Given the description of an element on the screen output the (x, y) to click on. 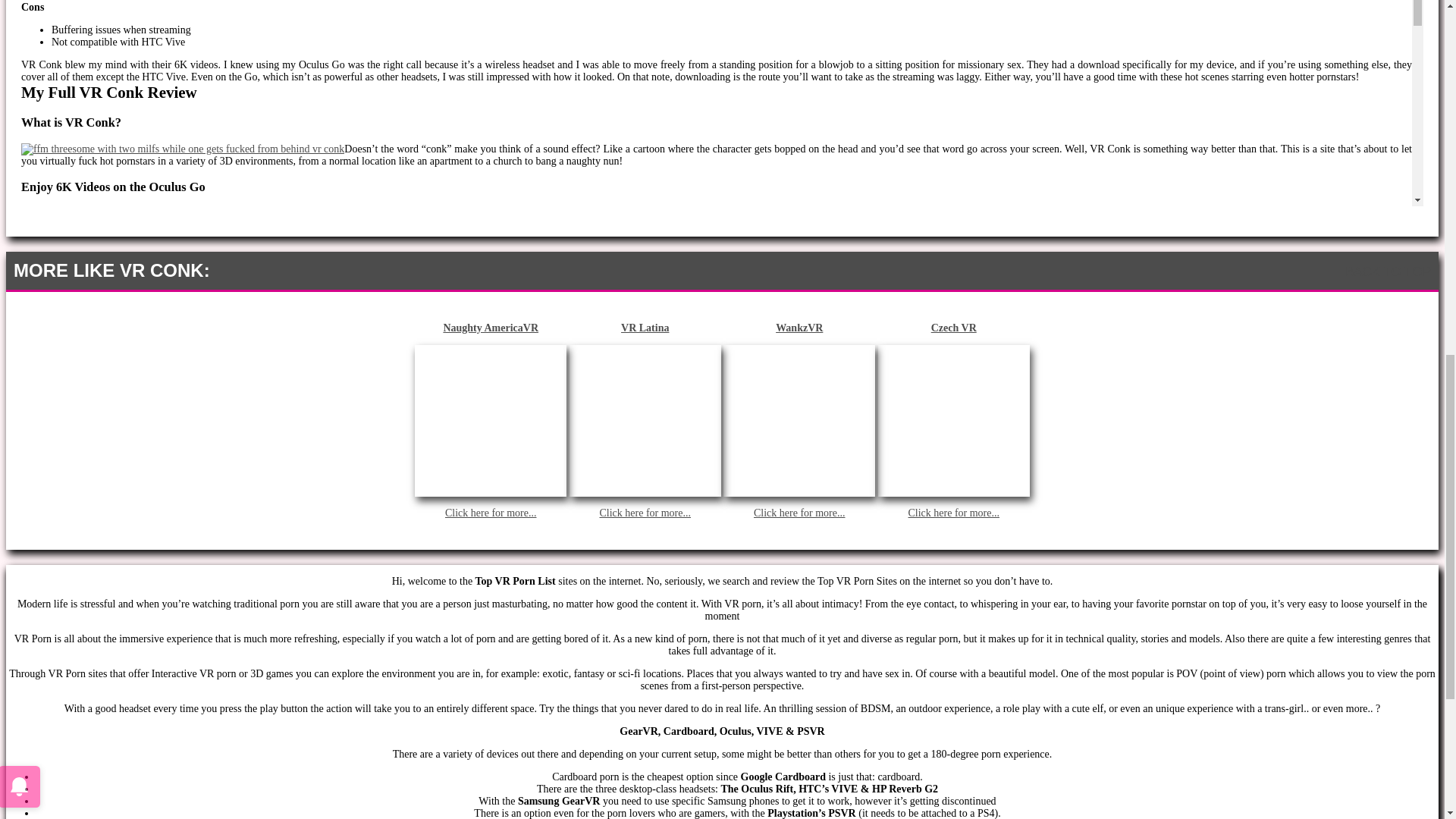
WankzVR (799, 328)
VR Conk 1 (182, 149)
Click here for more... (644, 512)
BACK TO TOP (1388, 271)
VR Conk 2 (112, 583)
Click here for more... (799, 512)
Naughty AmericaVR (490, 328)
Click here for more... (491, 512)
Czech VR (953, 328)
VR Latina (644, 328)
Click here for more... (952, 512)
